Given the description of an element on the screen output the (x, y) to click on. 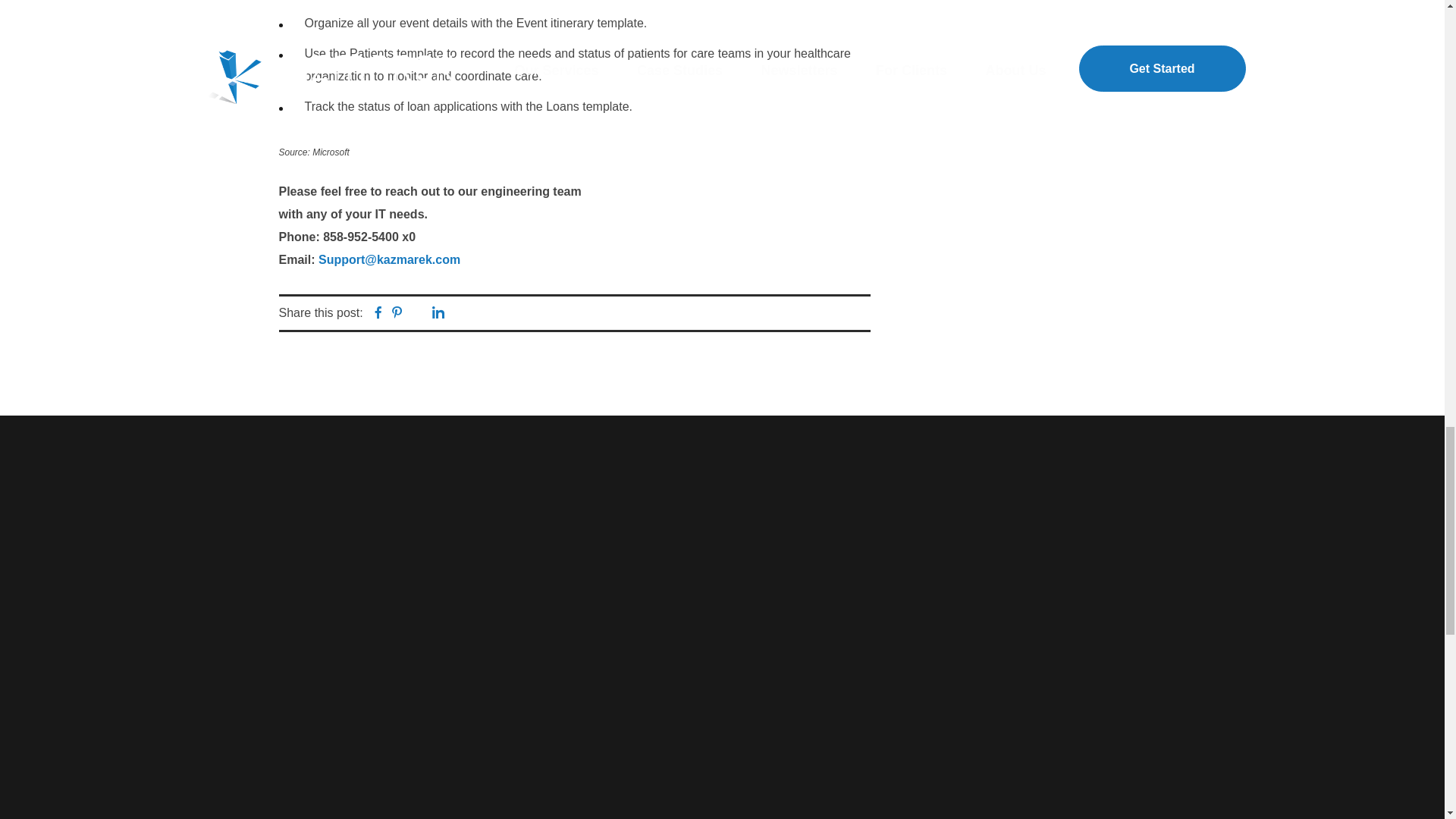
Facebook (378, 314)
cisco logo (722, 558)
Pin on Pinterest (397, 314)
Share on Linkedin (437, 314)
Linkedin (437, 314)
Share on Twitter (417, 312)
Twitter (417, 312)
Share on Facebook (378, 314)
Pinterest (397, 314)
